Given the description of an element on the screen output the (x, y) to click on. 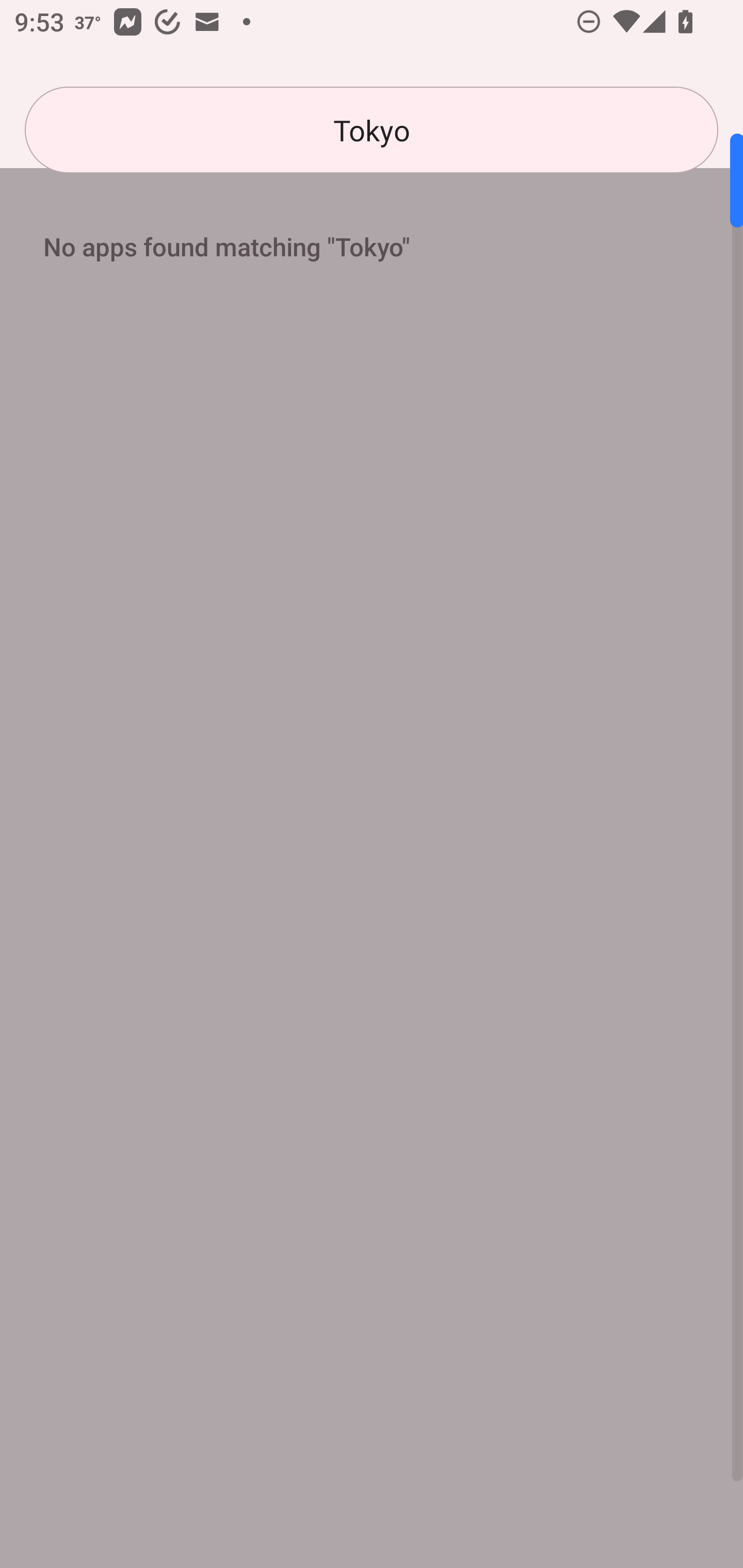
Tokyo (371, 130)
